Given the description of an element on the screen output the (x, y) to click on. 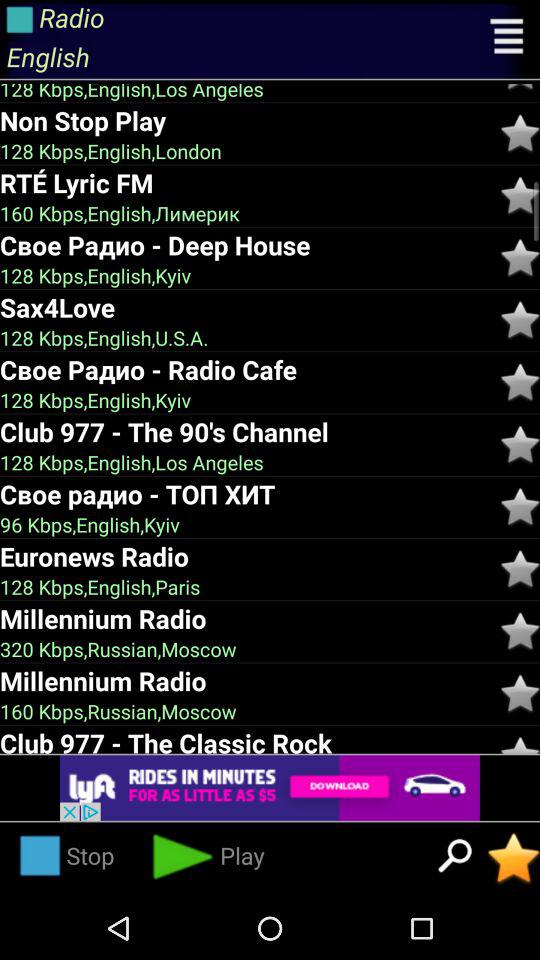
click the star option (520, 444)
